Given the description of an element on the screen output the (x, y) to click on. 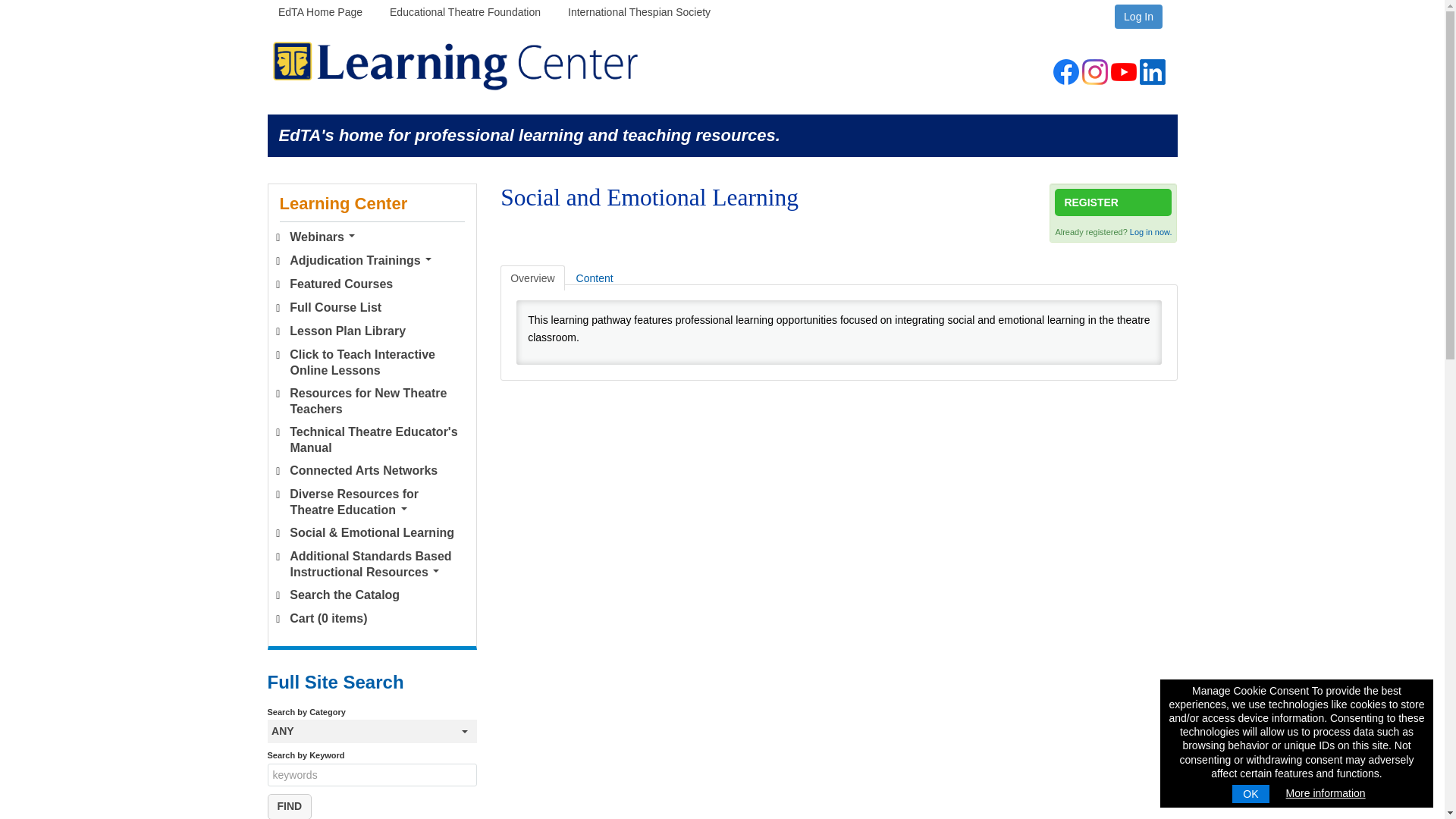
International Thespian Society (638, 17)
Any (371, 730)
Find (288, 806)
More information (1325, 793)
Log In (1138, 16)
Educational Theatre Foundation (464, 17)
OK (1249, 793)
EdTA Home Page (319, 17)
